Given the description of an element on the screen output the (x, y) to click on. 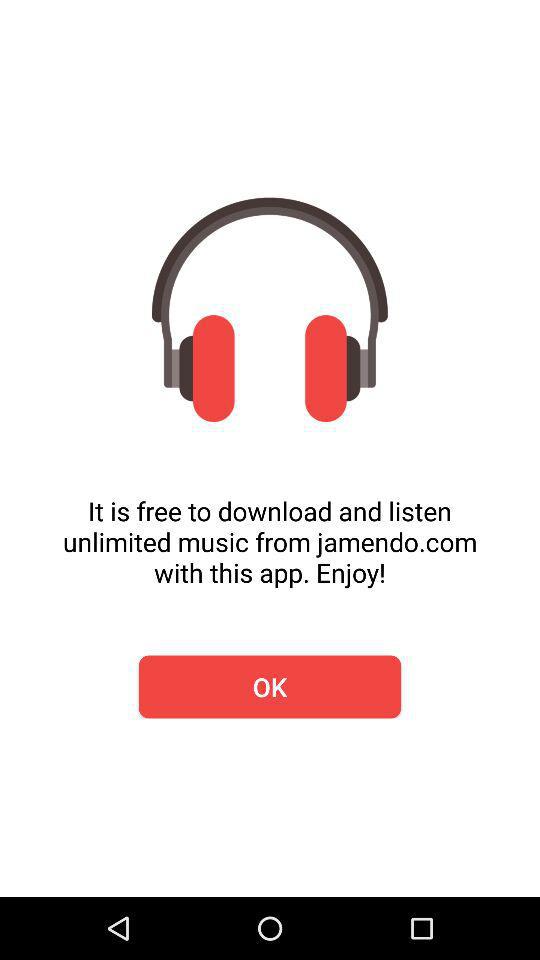
press ok icon (269, 686)
